Given the description of an element on the screen output the (x, y) to click on. 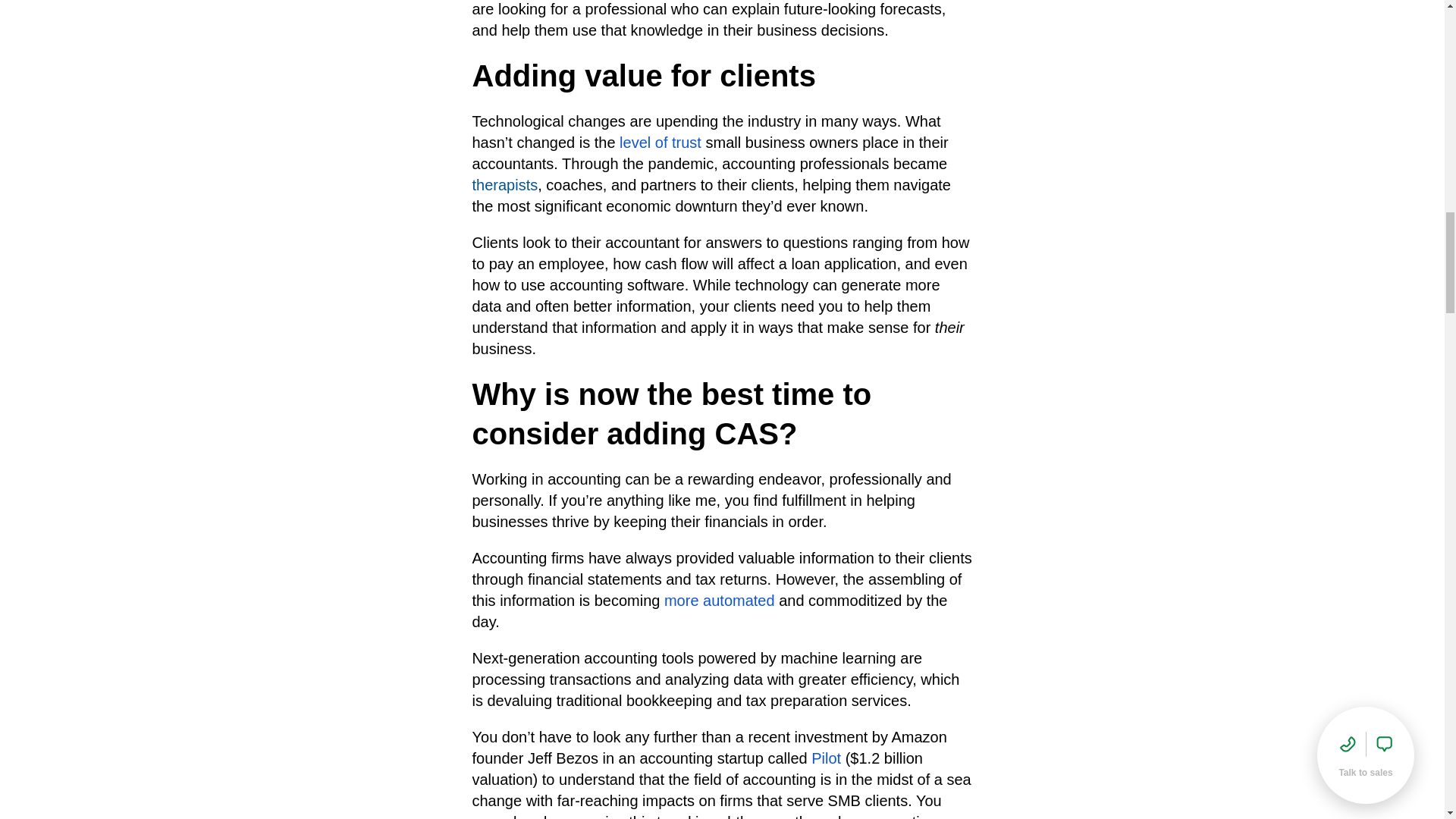
more automated (718, 600)
level of trust (660, 142)
therapists (504, 184)
Pilot (825, 758)
